Given the description of an element on the screen output the (x, y) to click on. 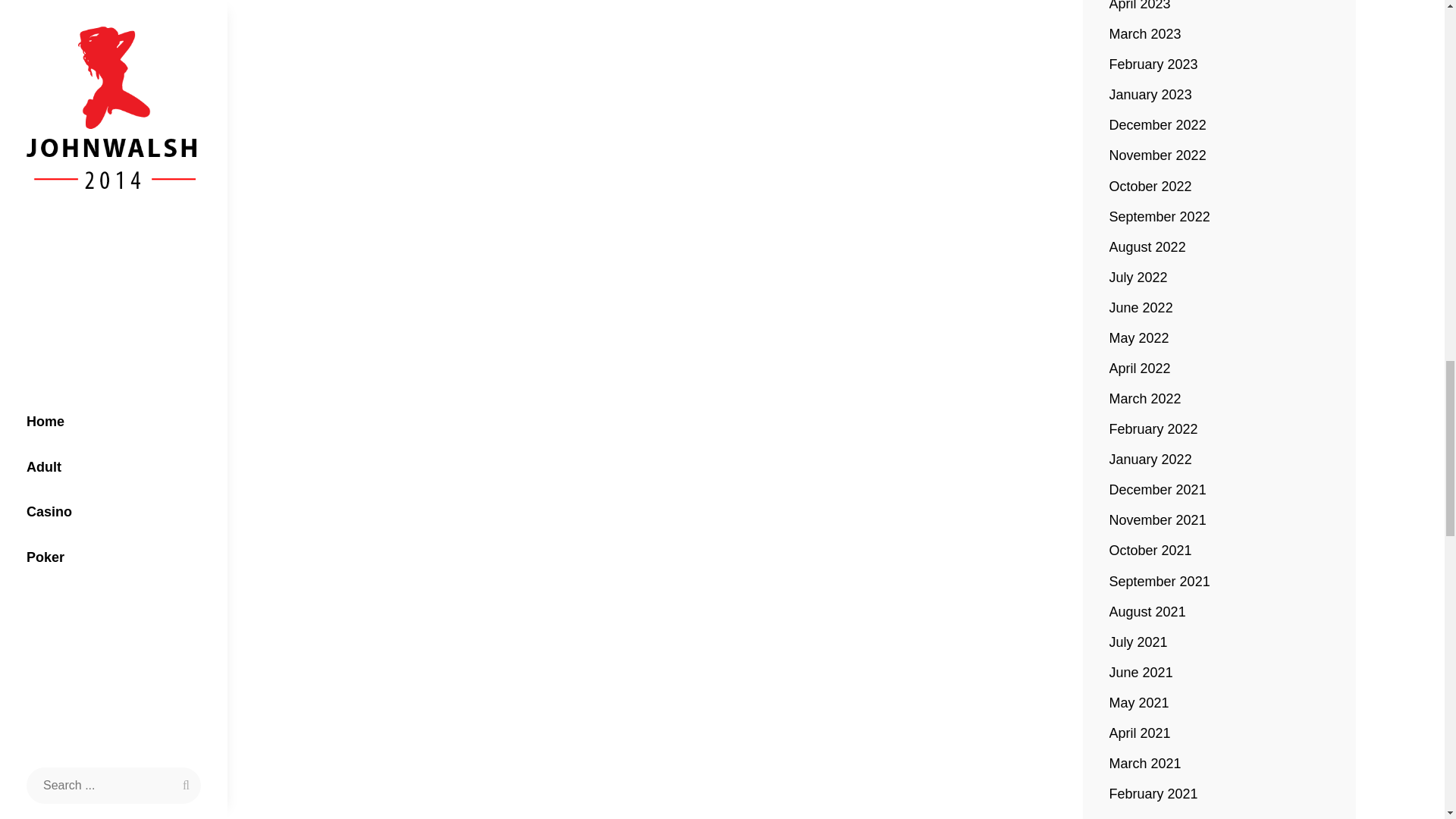
April 2023 (1139, 7)
December 2022 (1158, 124)
January 2023 (1150, 94)
March 2023 (1144, 34)
February 2023 (1153, 64)
